Given the description of an element on the screen output the (x, y) to click on. 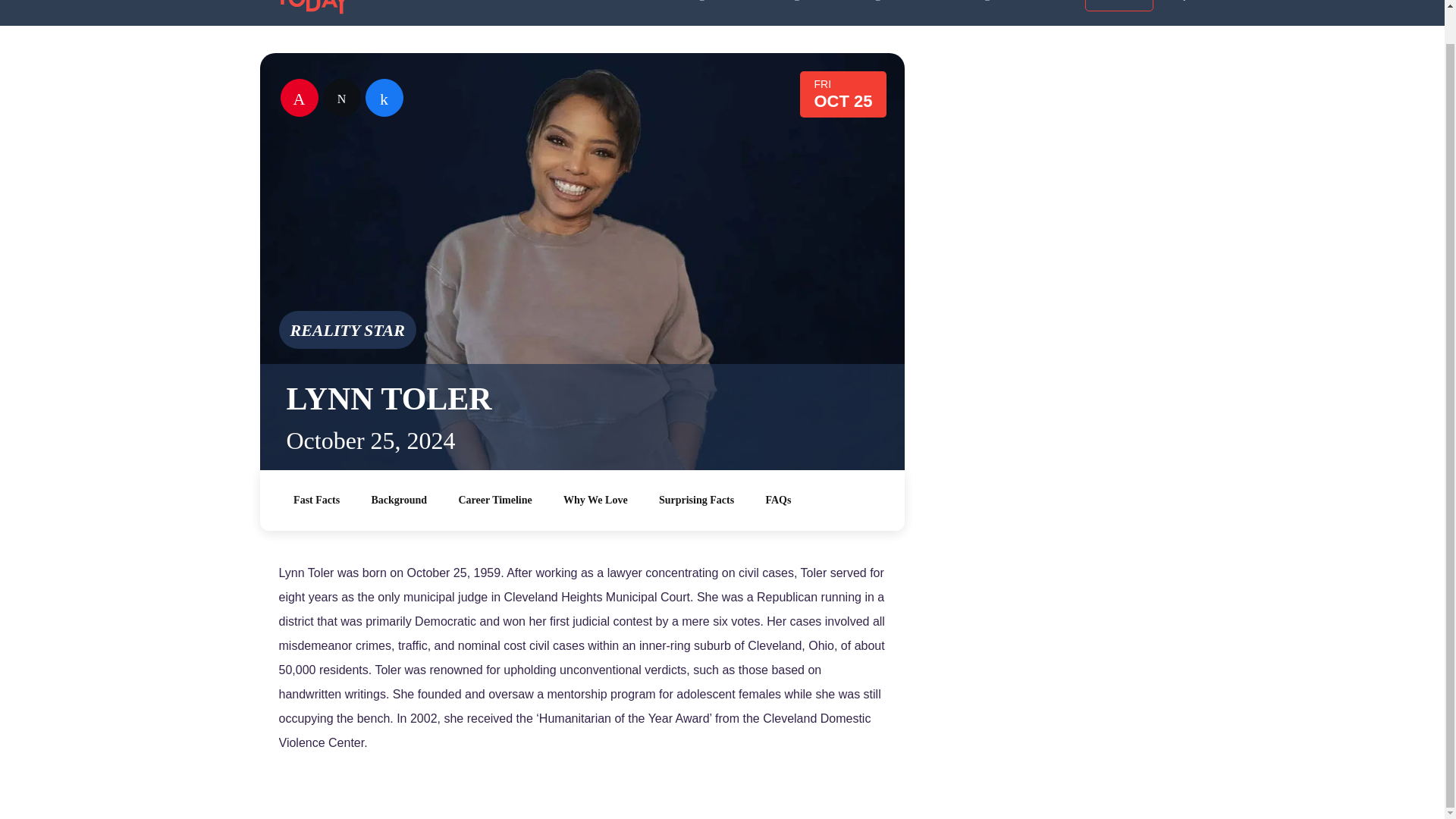
HOLIDAYS (767, 0)
National Today (314, 7)
BIRTHDAYS (669, 0)
National Today (314, 7)
MONTH (855, 0)
